Given the description of an element on the screen output the (x, y) to click on. 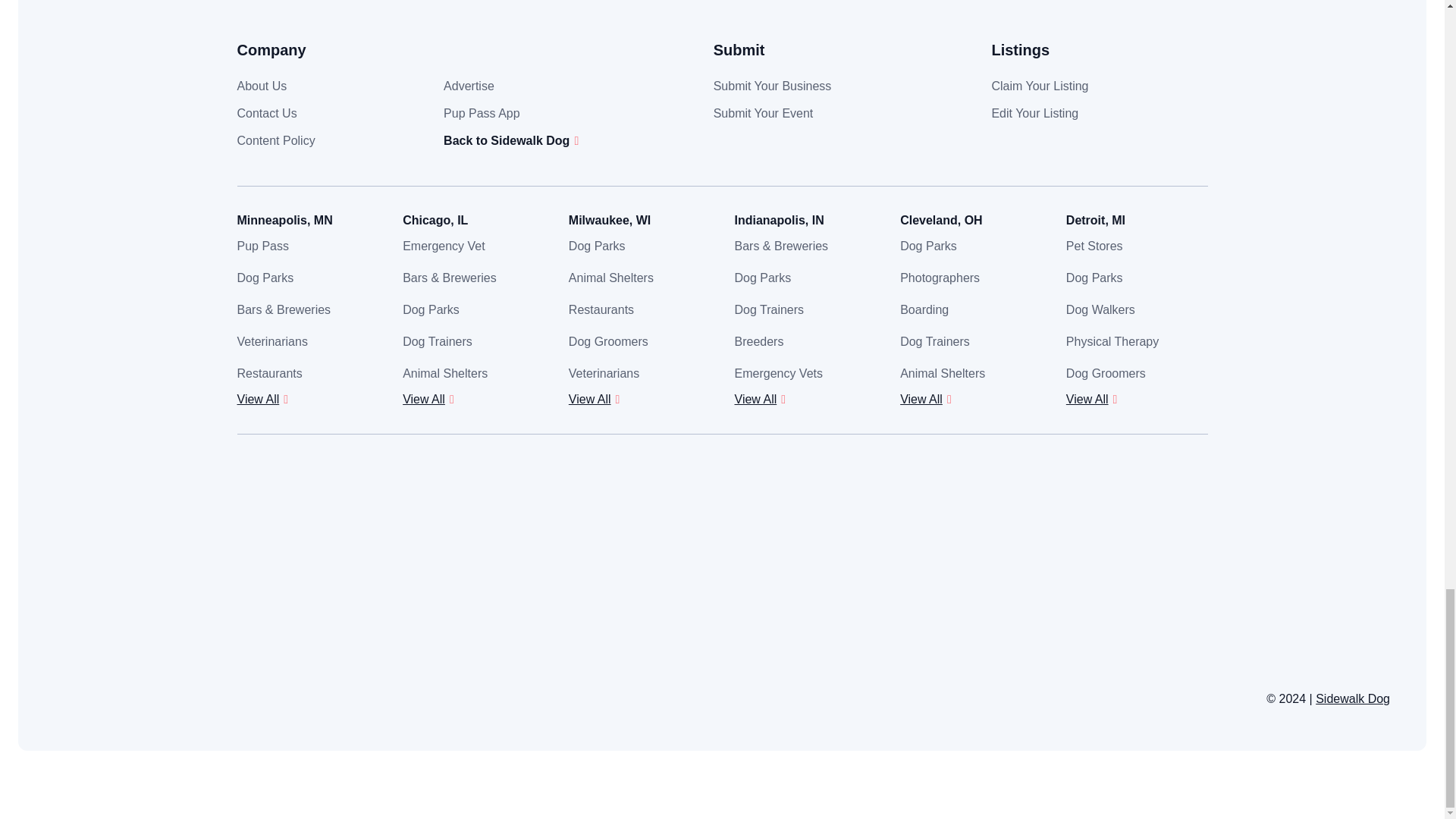
Pup Pass App (481, 113)
Submit Your Business (772, 85)
About Us (260, 85)
Contact Us (266, 113)
Content Policy (274, 140)
Advertise (469, 85)
